Given the description of an element on the screen output the (x, y) to click on. 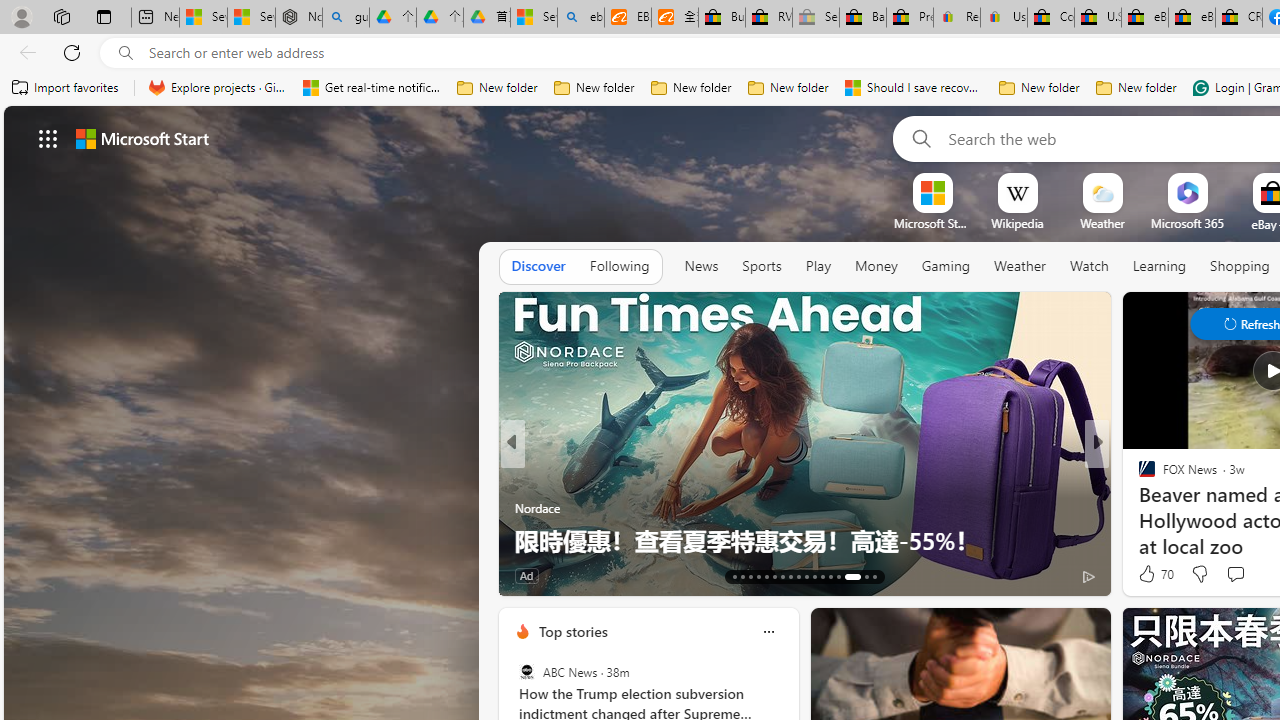
ebay - Search (581, 17)
AutomationID: tab-17 (765, 576)
Microsoft 365 (1186, 223)
ABC News (526, 672)
User Privacy Notice | eBay (1003, 17)
AutomationID: tab-20 (789, 576)
AutomationID: tab-25 (829, 576)
guge yunpan - Search (345, 17)
Real Wild (1138, 507)
AutomationID: tab-19 (782, 576)
